Given the description of an element on the screen output the (x, y) to click on. 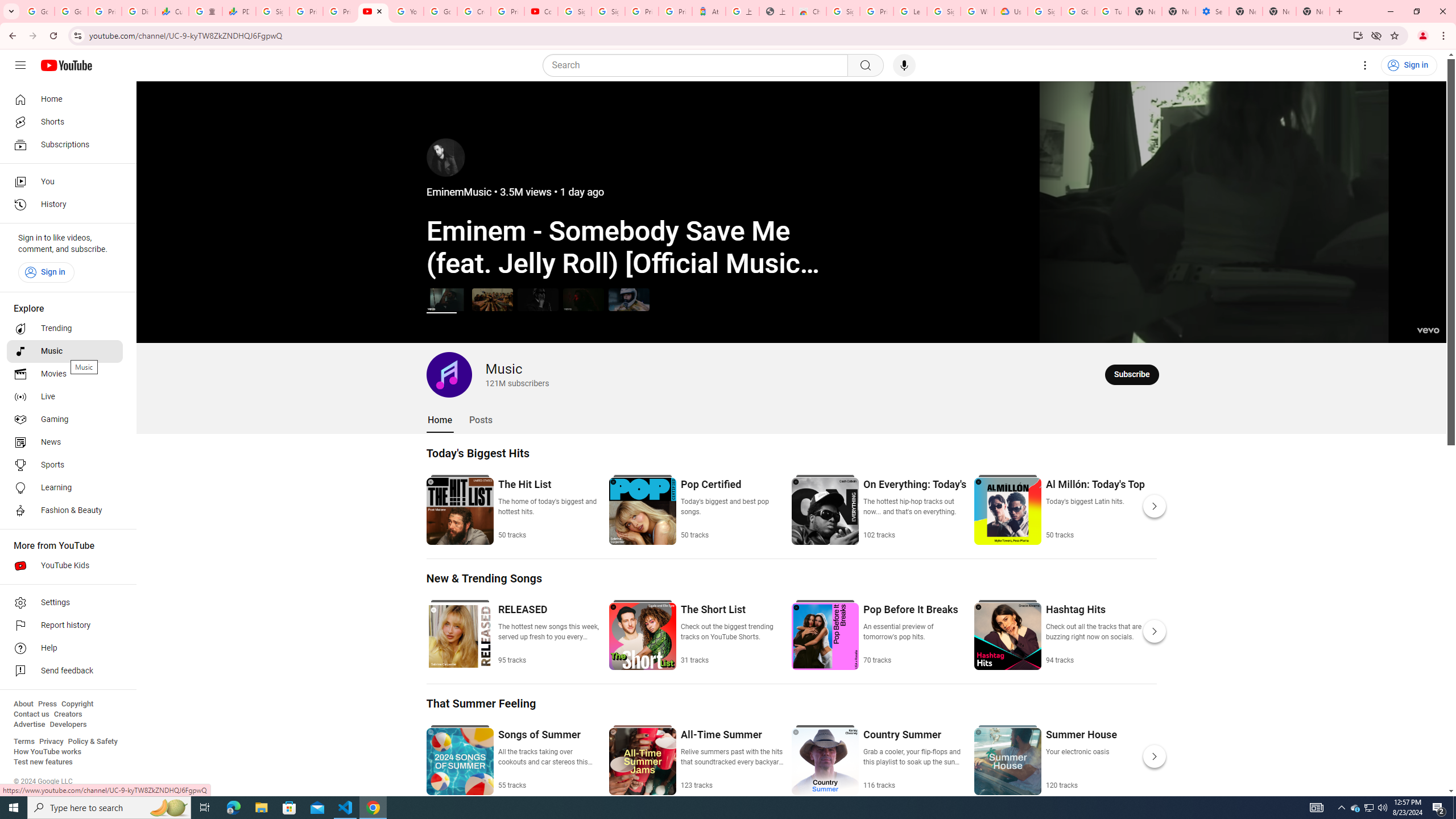
Google Account Help (441, 11)
Who are Google's partners? - Privacy and conditions - Google (976, 11)
Guide (20, 65)
Learning (64, 487)
Summer House Your electronic oasis 120 tracks (1080, 758)
Fashion & Beauty (64, 510)
How YouTube works (47, 751)
